Given the description of an element on the screen output the (x, y) to click on. 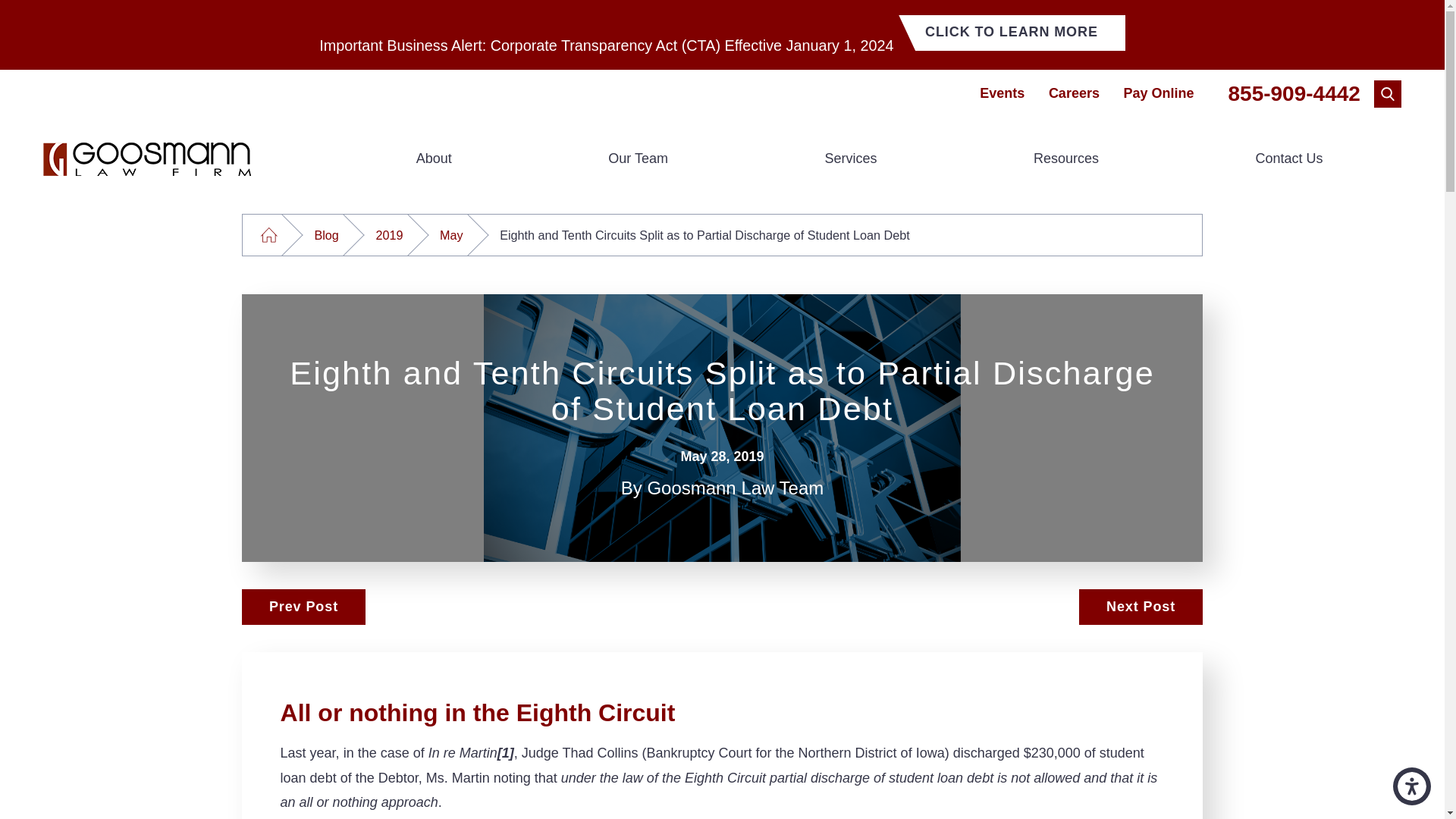
Goosmann Law Firm (146, 159)
Our Team (637, 158)
Open the accessibility options menu (1412, 786)
About (433, 158)
Go Home (269, 235)
CLICK TO LEARN MORE (1011, 32)
Search Our Site (1387, 93)
Careers (1073, 92)
Pay Online (1157, 92)
Services (850, 158)
Events (1002, 92)
Search Icon (1387, 93)
855-909-4442 (1293, 94)
